Given the description of an element on the screen output the (x, y) to click on. 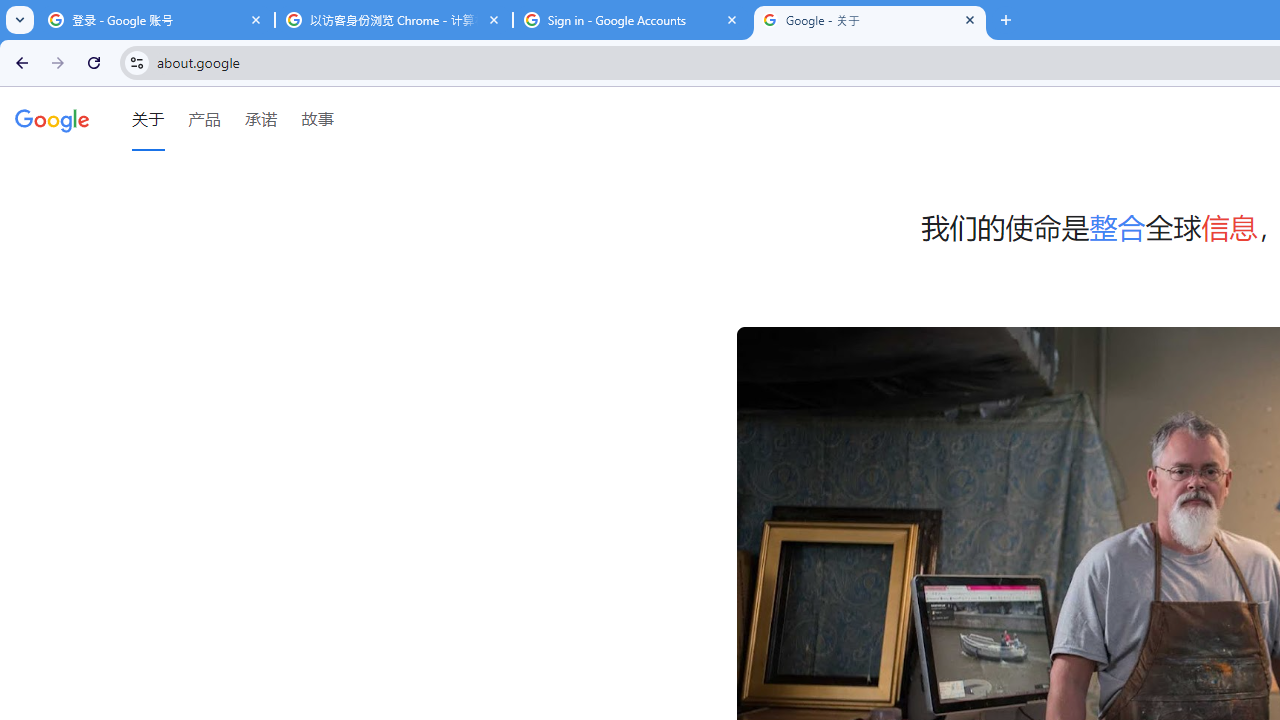
Google (52, 119)
Sign in - Google Accounts (632, 20)
